Given the description of an element on the screen output the (x, y) to click on. 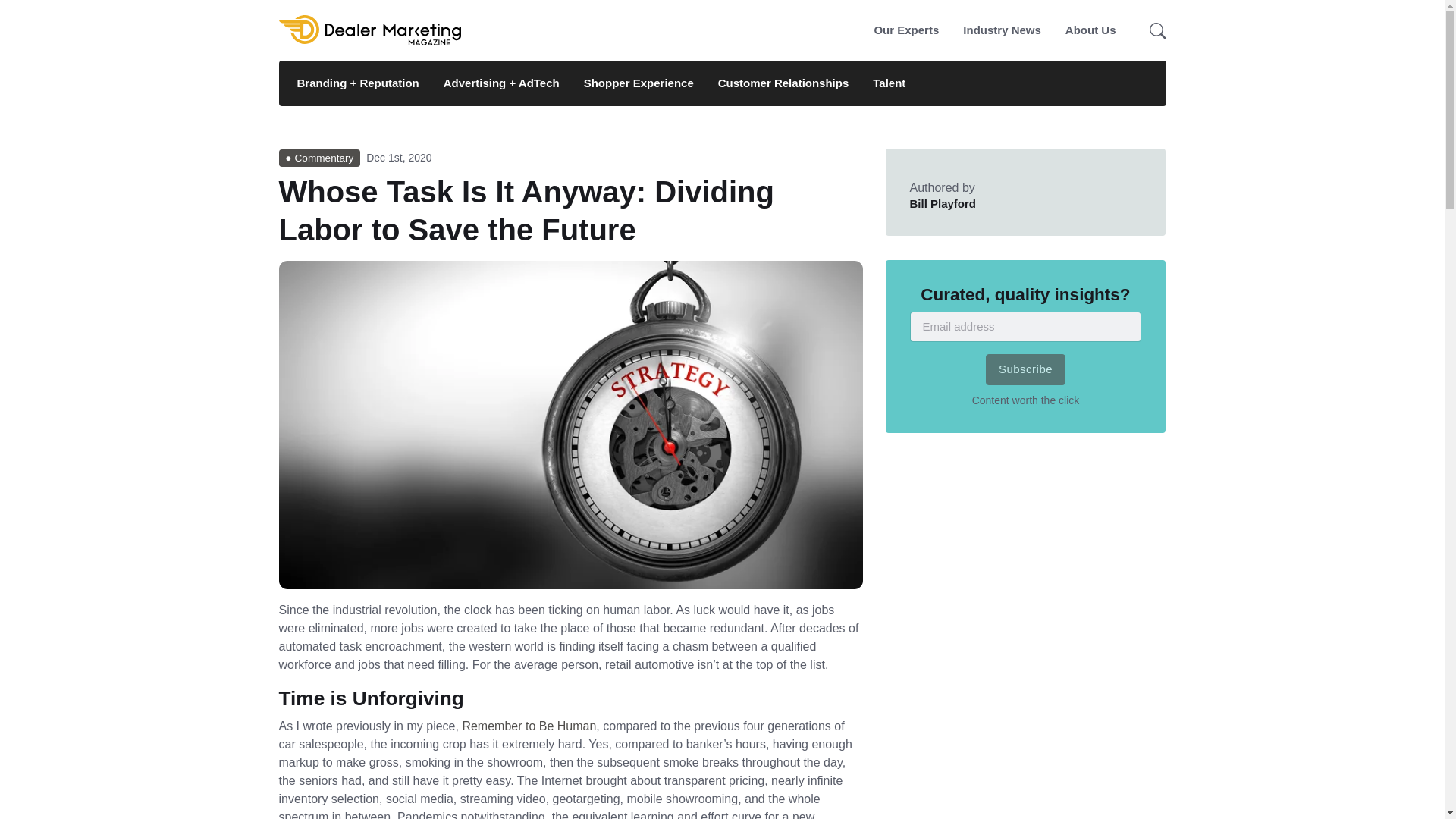
Talent (988, 30)
Remember to Be Human (882, 83)
Our Experts (528, 725)
Customer Relationships (905, 30)
Subscribe (783, 83)
Industry News (1025, 368)
Shopper Experience (1001, 30)
Bill Playford (639, 83)
About Us (943, 203)
